Given the description of an element on the screen output the (x, y) to click on. 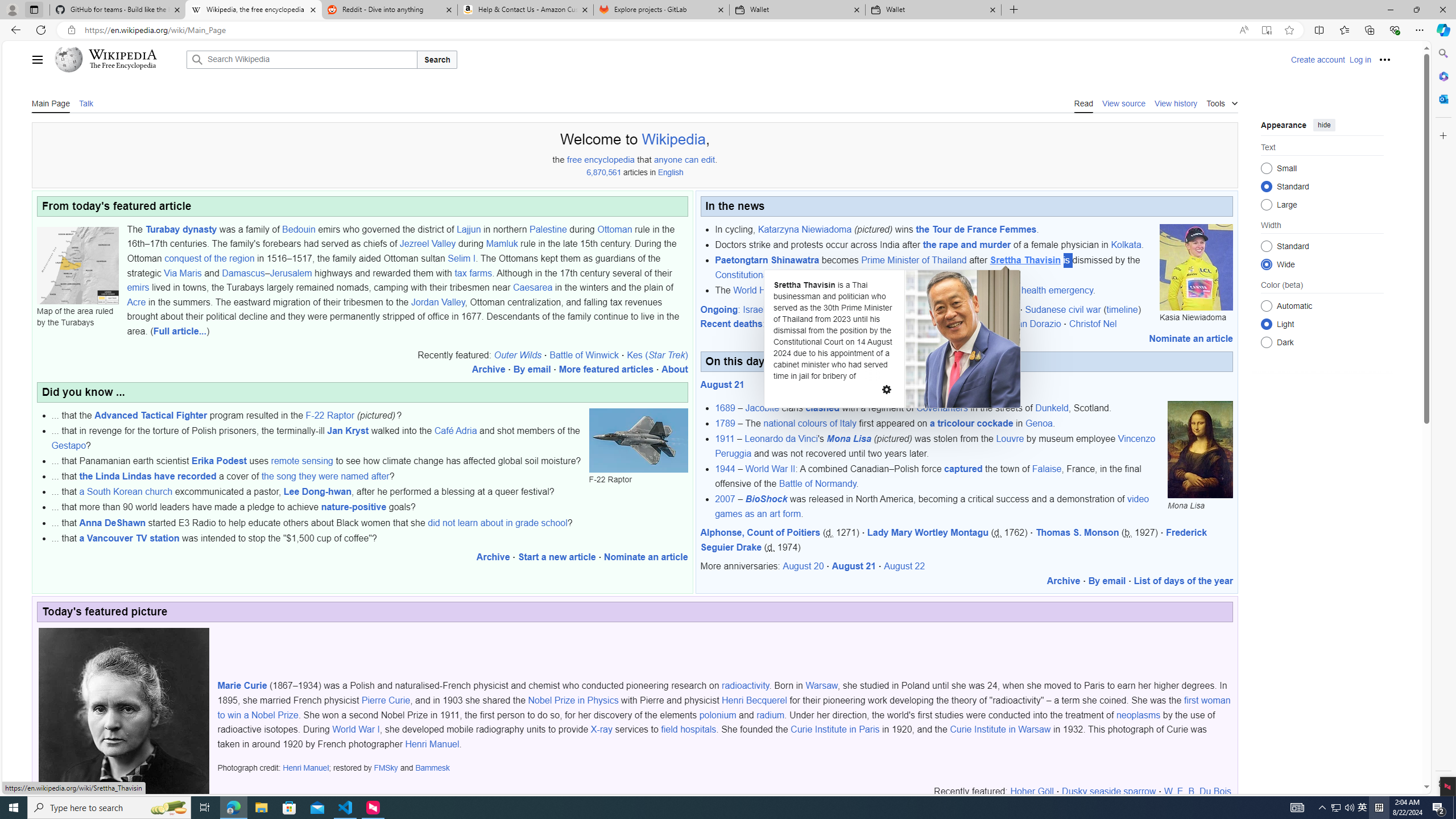
Read (1083, 102)
nature-positive (353, 507)
John Lansing (975, 324)
Log in (1360, 58)
the Tour de France Femmes (975, 229)
X-ray (600, 729)
Lady Mary Wortley Montagu (927, 532)
Lajjun (467, 229)
Small (1266, 167)
Read (1083, 102)
